Given the description of an element on the screen output the (x, y) to click on. 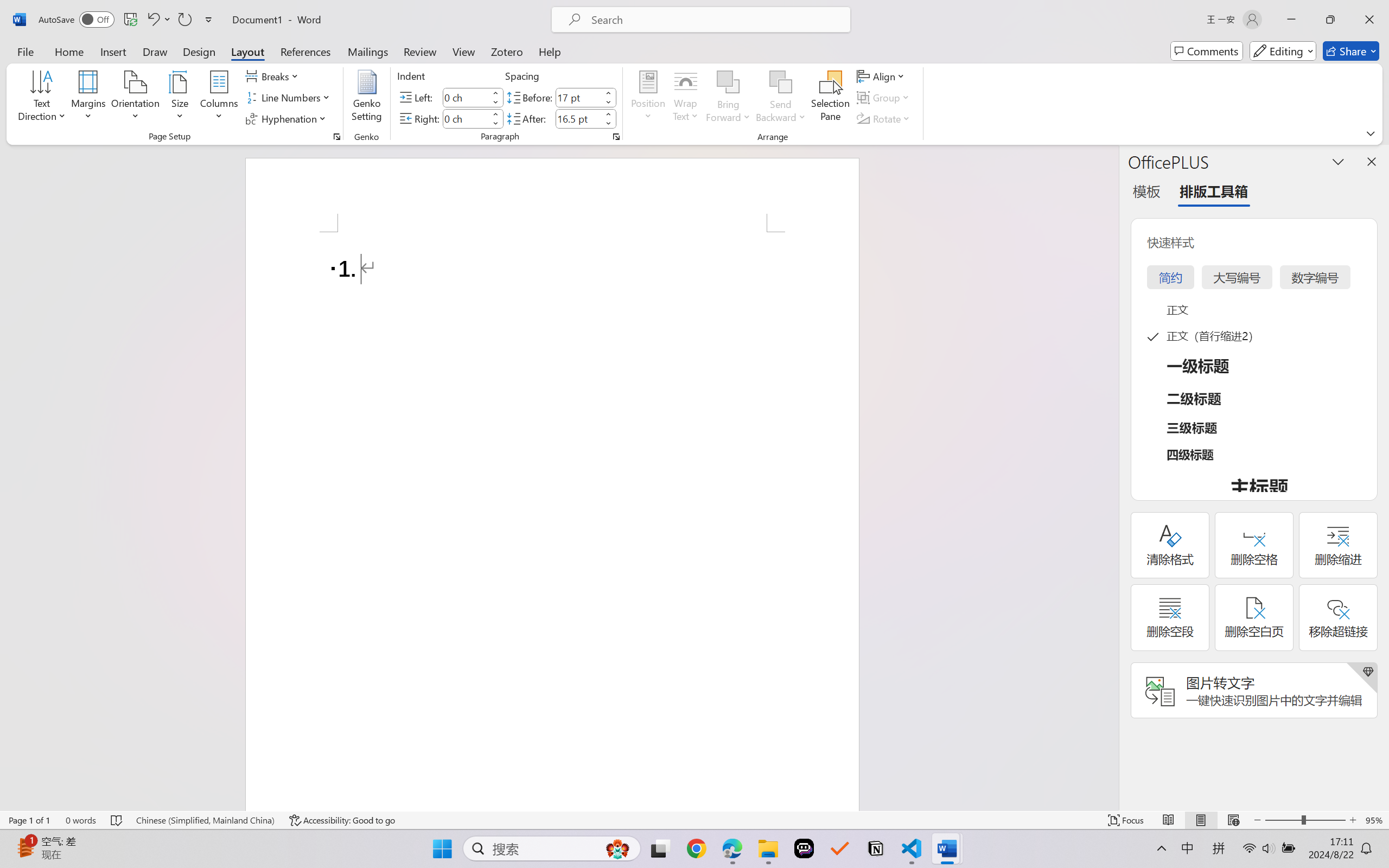
Spacing After (578, 118)
Send Backward (781, 97)
Group (884, 97)
Line Numbers (289, 97)
Zoom 95% (1374, 819)
Page 1 content (552, 521)
Bring Forward (728, 81)
